Given the description of an element on the screen output the (x, y) to click on. 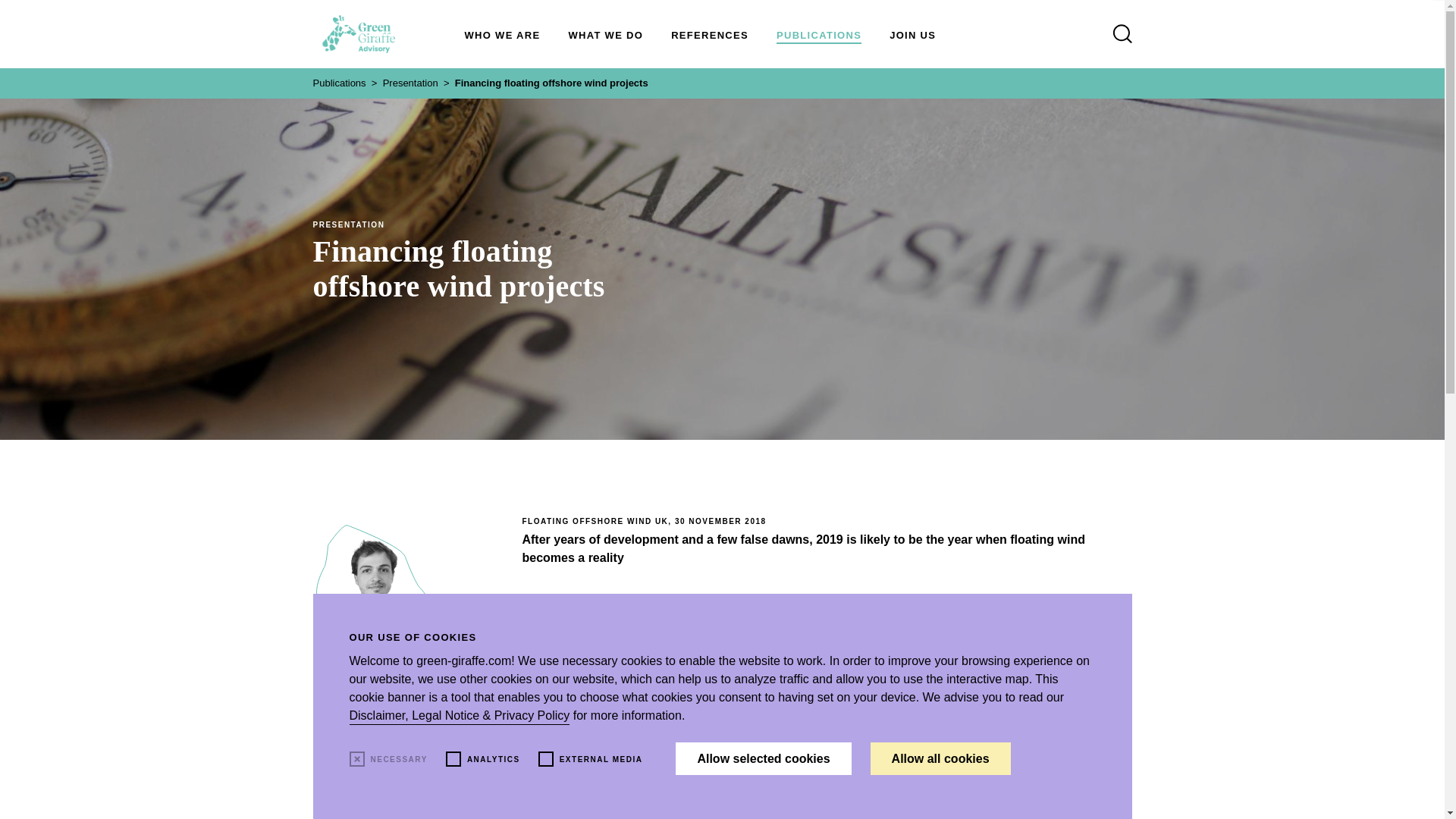
Cookie notice (397, 759)
Google Analytics (493, 759)
Mapbox (601, 759)
REFERENCES (709, 35)
Publications (339, 82)
JOIN US (912, 35)
To home (358, 34)
PUBLICATIONS (818, 35)
Presentation (410, 82)
WHO WE ARE (502, 35)
WHAT WE DO (605, 35)
